Given the description of an element on the screen output the (x, y) to click on. 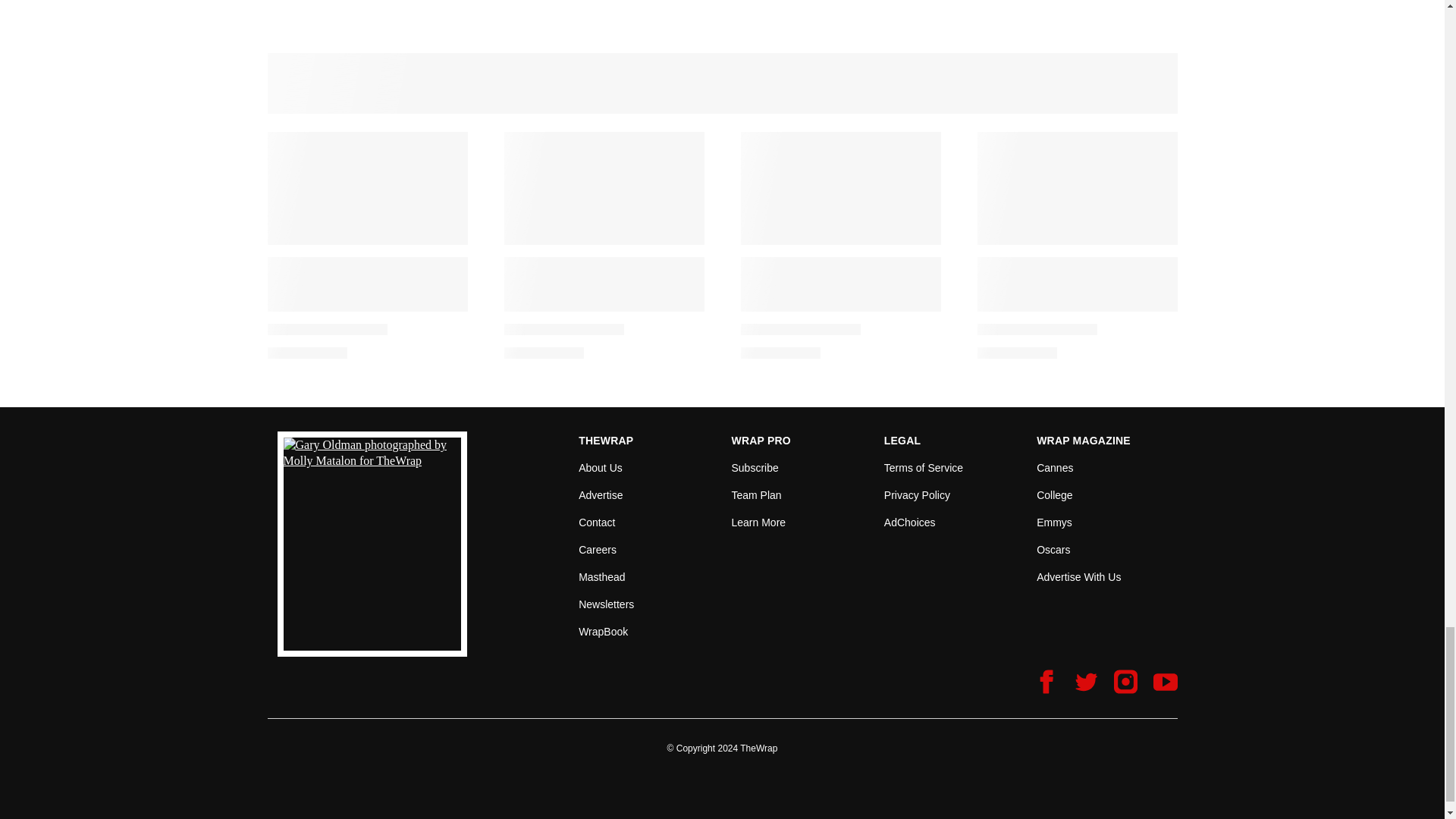
Learn more about becoming a member (758, 522)
